Given the description of an element on the screen output the (x, y) to click on. 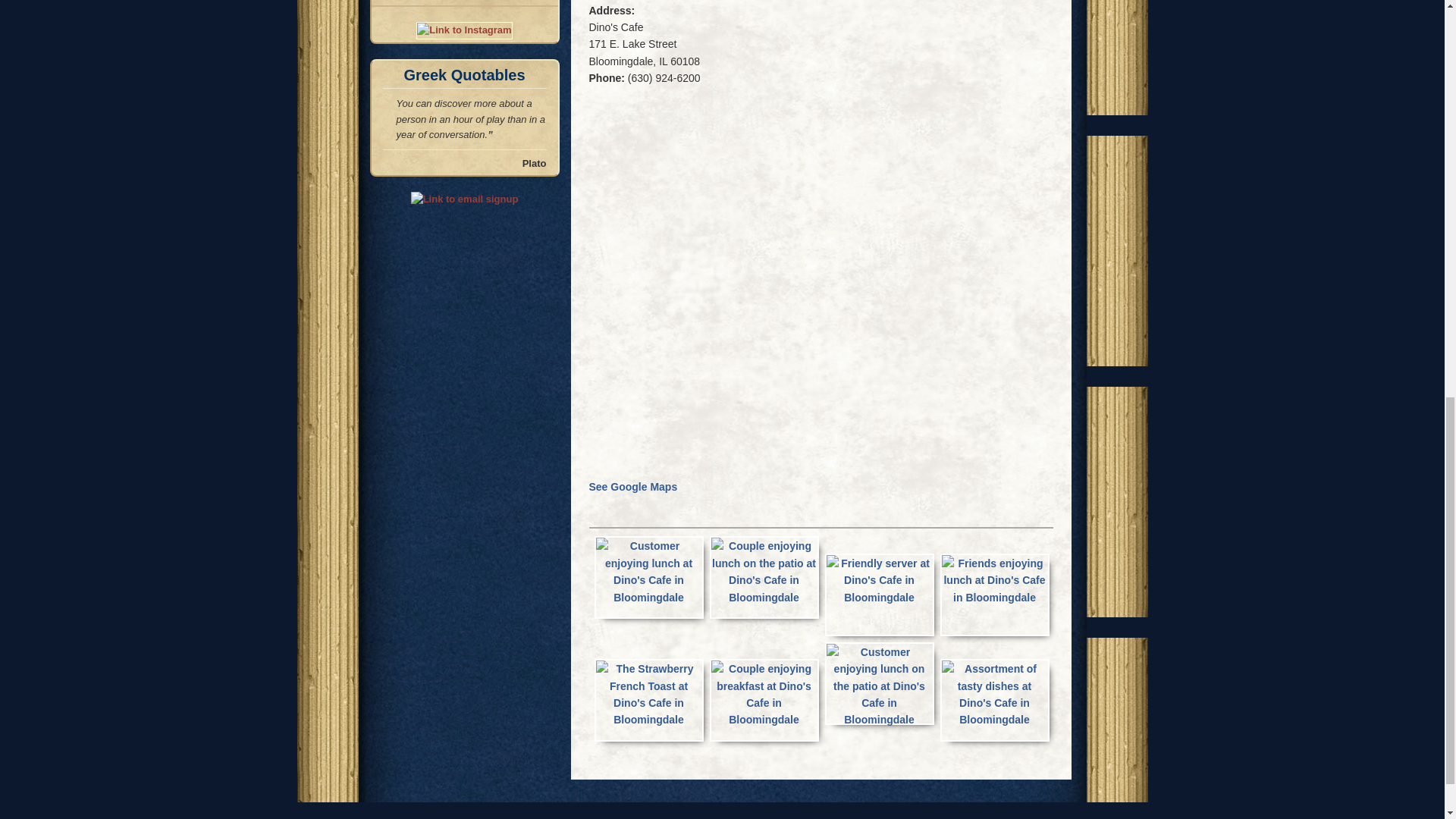
The Strawberry French Toast at Dino's Cafe in Bloomingdale (648, 694)
The Strawberry French Toast at Dino's Cafe in Bloomingdale (648, 700)
Customer enjoying lunch at Dino's Cafe in Bloomingdale (648, 577)
Friends enjoying lunch at Dino's Cafe in Bloomingdale (995, 580)
Couple enjoying breakfast at Dino's Cafe in Bloomingdale (764, 700)
Friendly server at Dino's Cafe in Bloomingdale (880, 580)
Assortment of tasty dishes at Dino's Cafe in Bloomingdale (995, 694)
Couple enjoying breakfast at Dino's Cafe in Bloomingdale (763, 694)
